Given the description of an element on the screen output the (x, y) to click on. 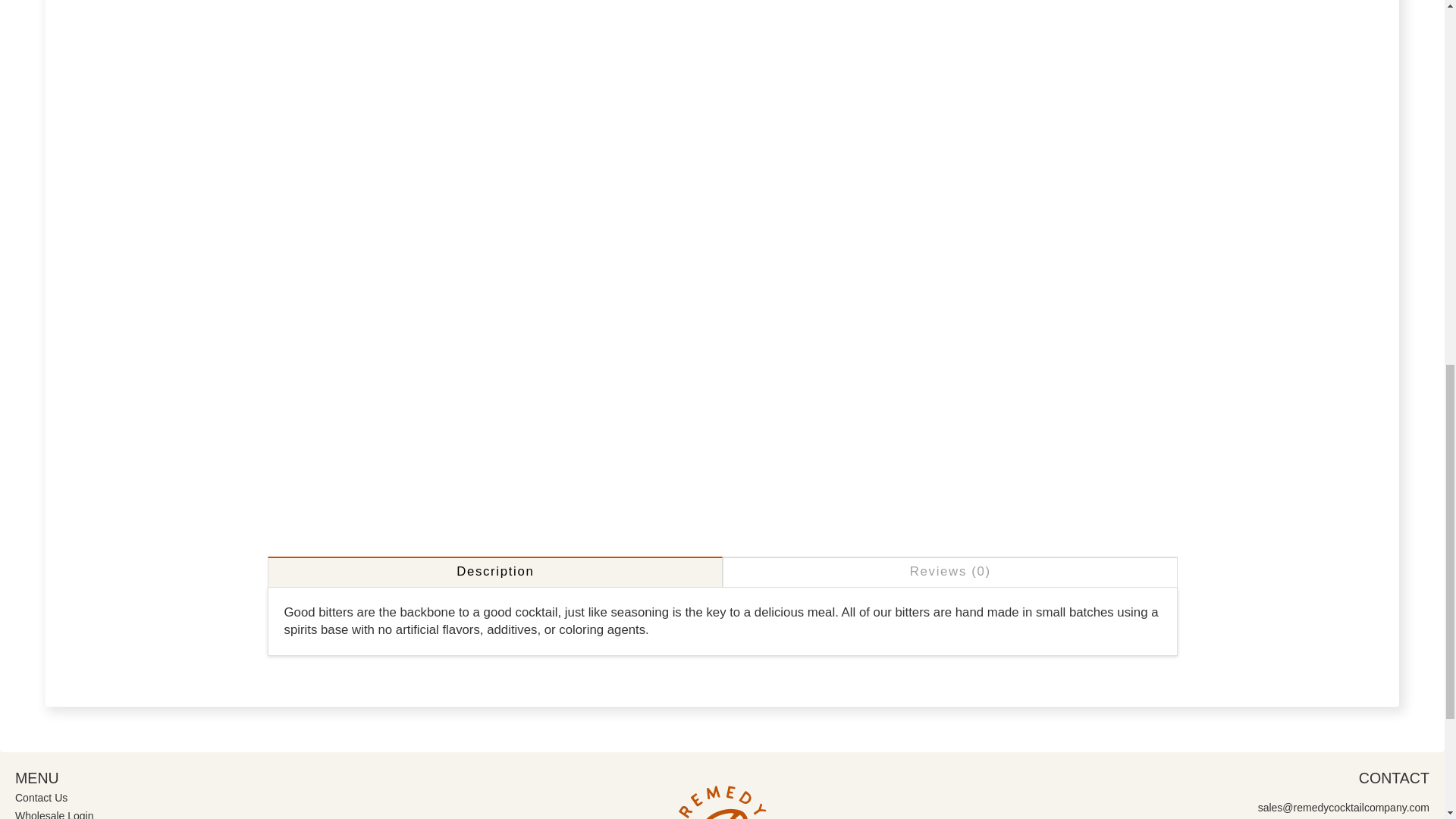
Wholesale Login (55, 812)
Contact Us (42, 797)
Description (494, 572)
